Given the description of an element on the screen output the (x, y) to click on. 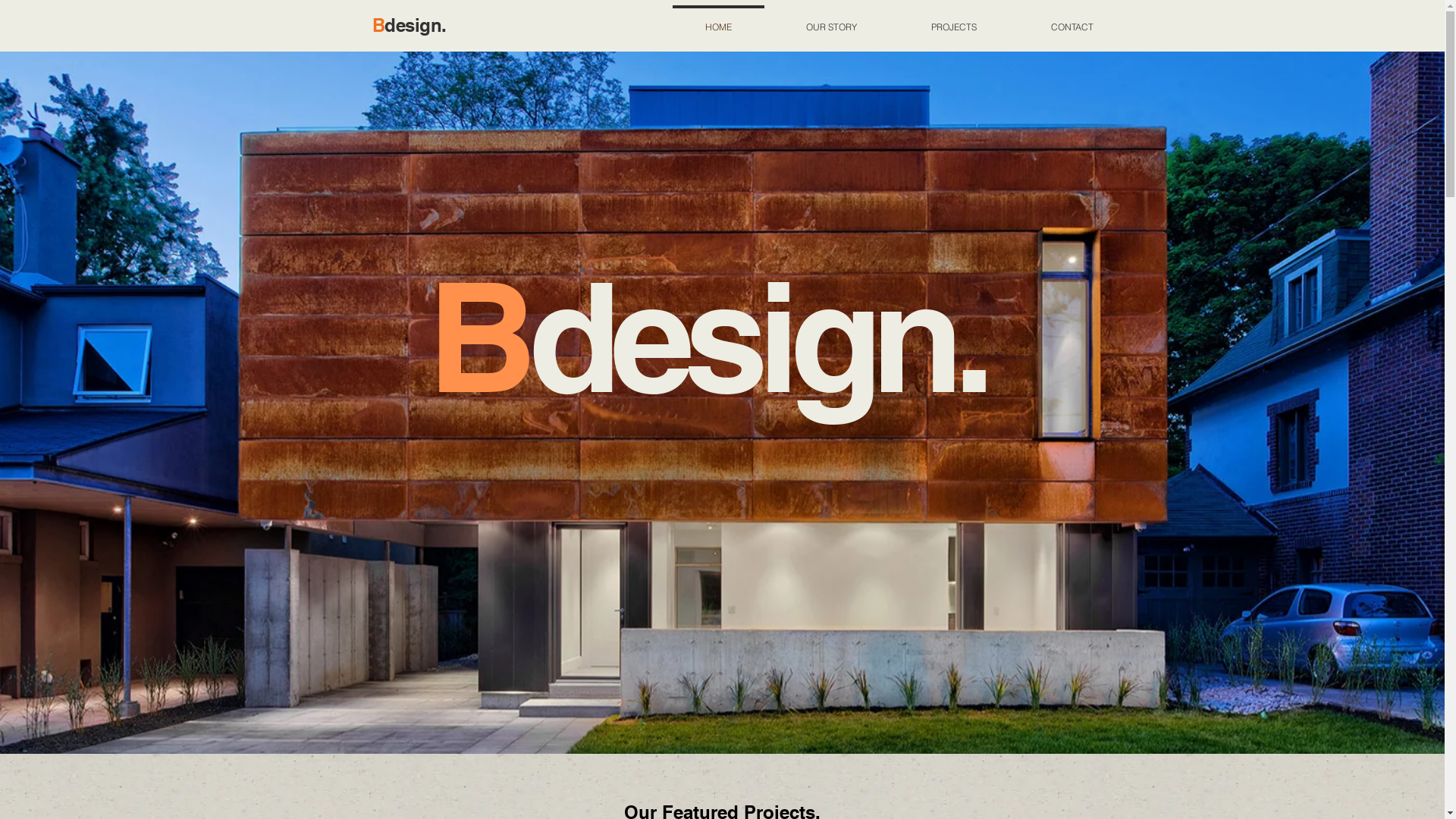
OUR STORY Element type: text (831, 20)
B Element type: text (377, 24)
d Element type: text (389, 24)
CONTACT Element type: text (1071, 20)
PROJECTS Element type: text (953, 20)
esign. Element type: text (420, 24)
HOME Element type: text (717, 20)
